Given the description of an element on the screen output the (x, y) to click on. 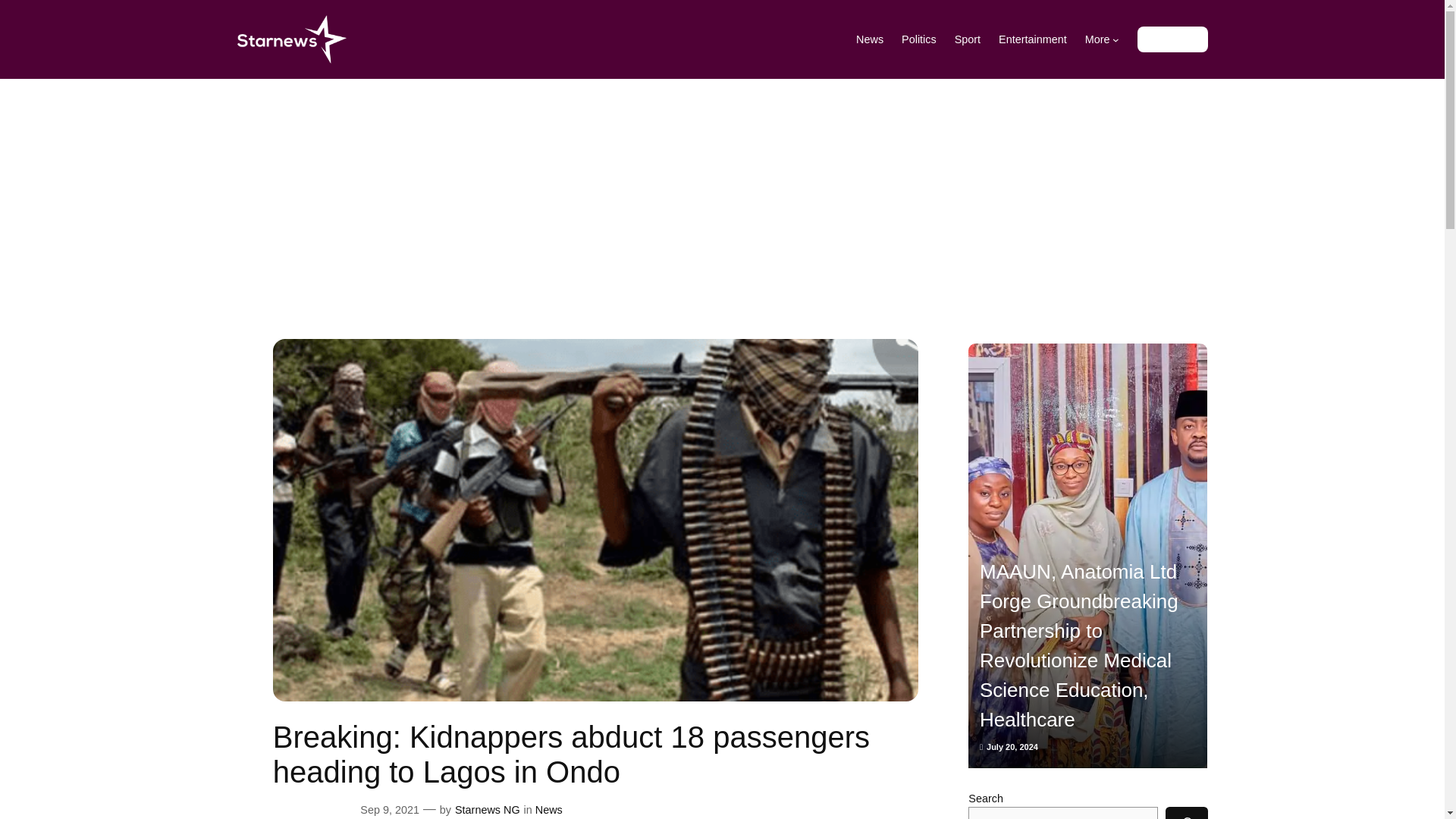
Get The App (1172, 39)
More (1101, 38)
Entertainment (1032, 38)
Sep 9, 2021 (389, 809)
Sport (967, 38)
News (869, 38)
News (548, 809)
Politics (918, 38)
Starnews NG (486, 809)
